Given the description of an element on the screen output the (x, y) to click on. 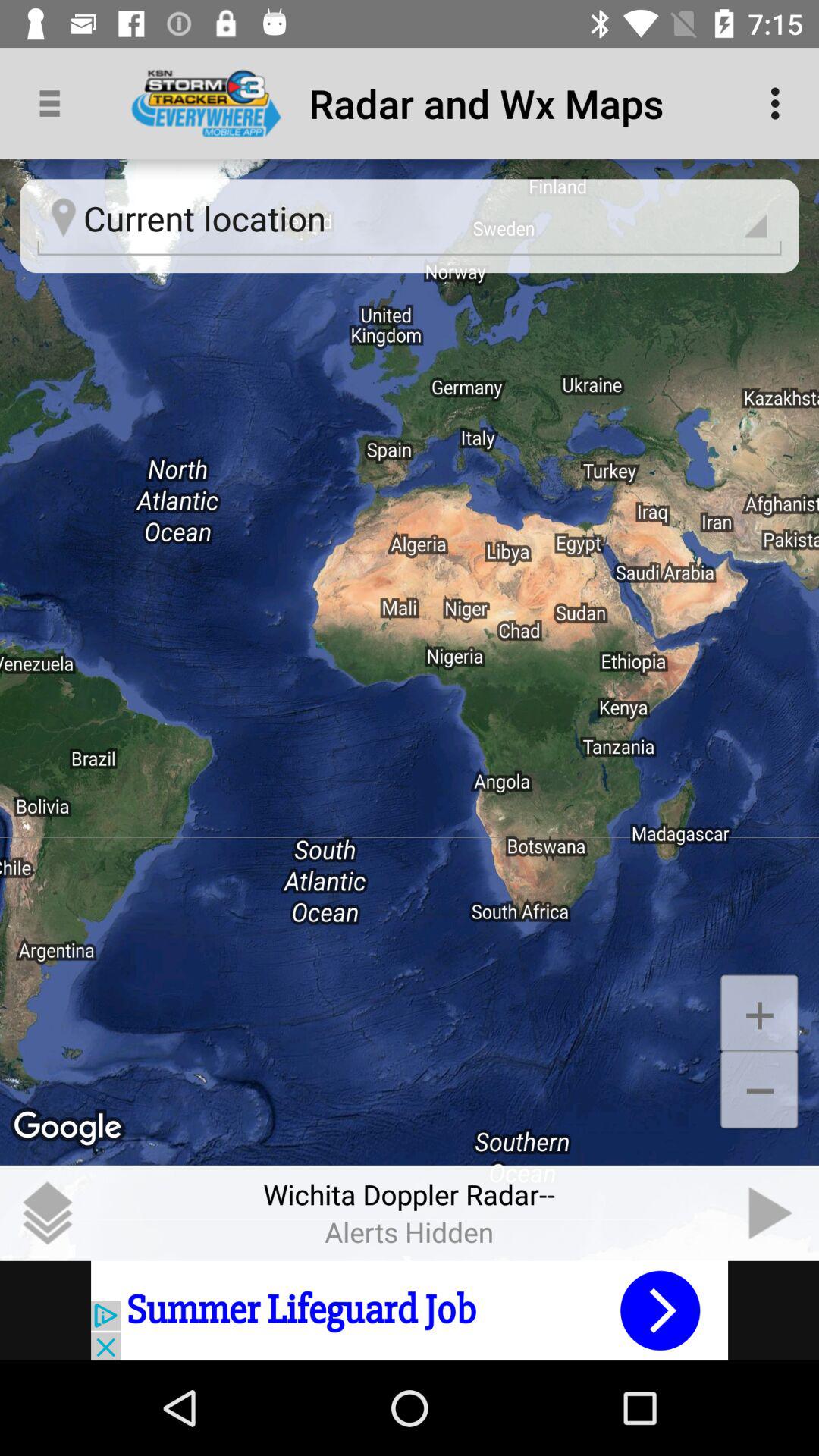
visit sponsored advertisement (409, 1310)
